Given the description of an element on the screen output the (x, y) to click on. 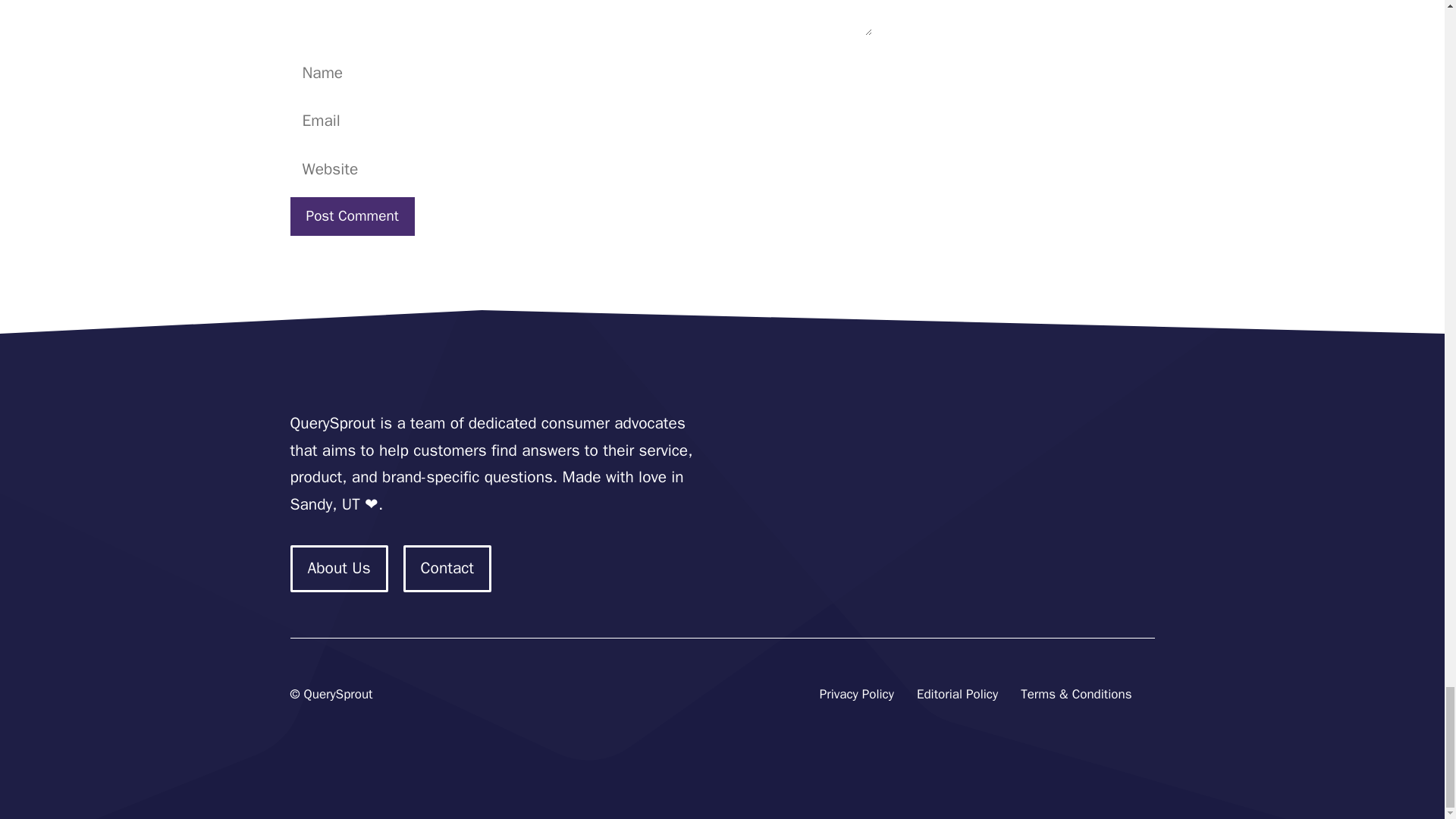
About Us (338, 568)
Post Comment (351, 216)
Contact (447, 568)
Editorial Policy (957, 694)
Privacy Policy (856, 694)
Post Comment (351, 216)
